Given the description of an element on the screen output the (x, y) to click on. 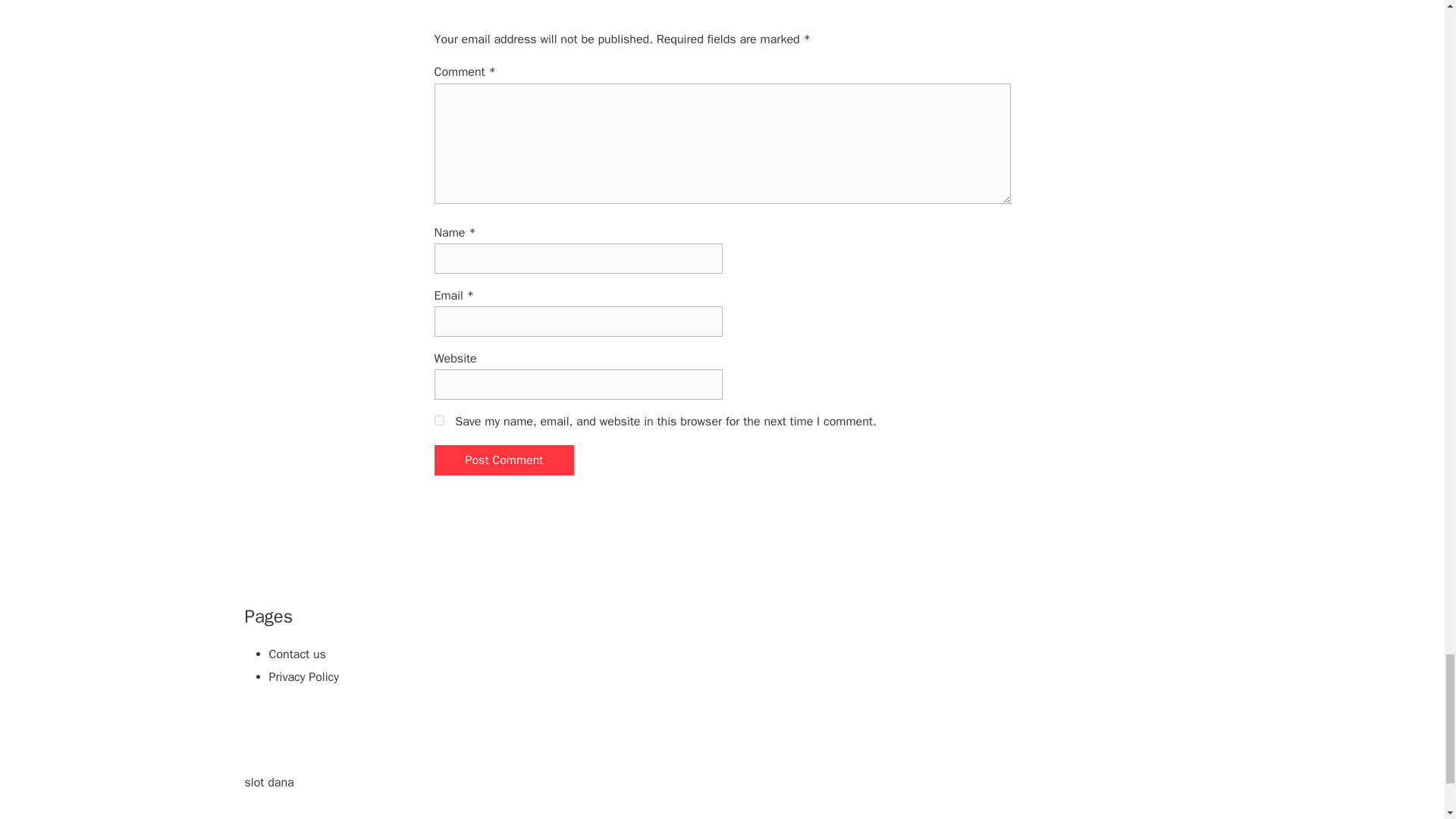
Post Comment (503, 460)
yes (438, 420)
